Given the description of an element on the screen output the (x, y) to click on. 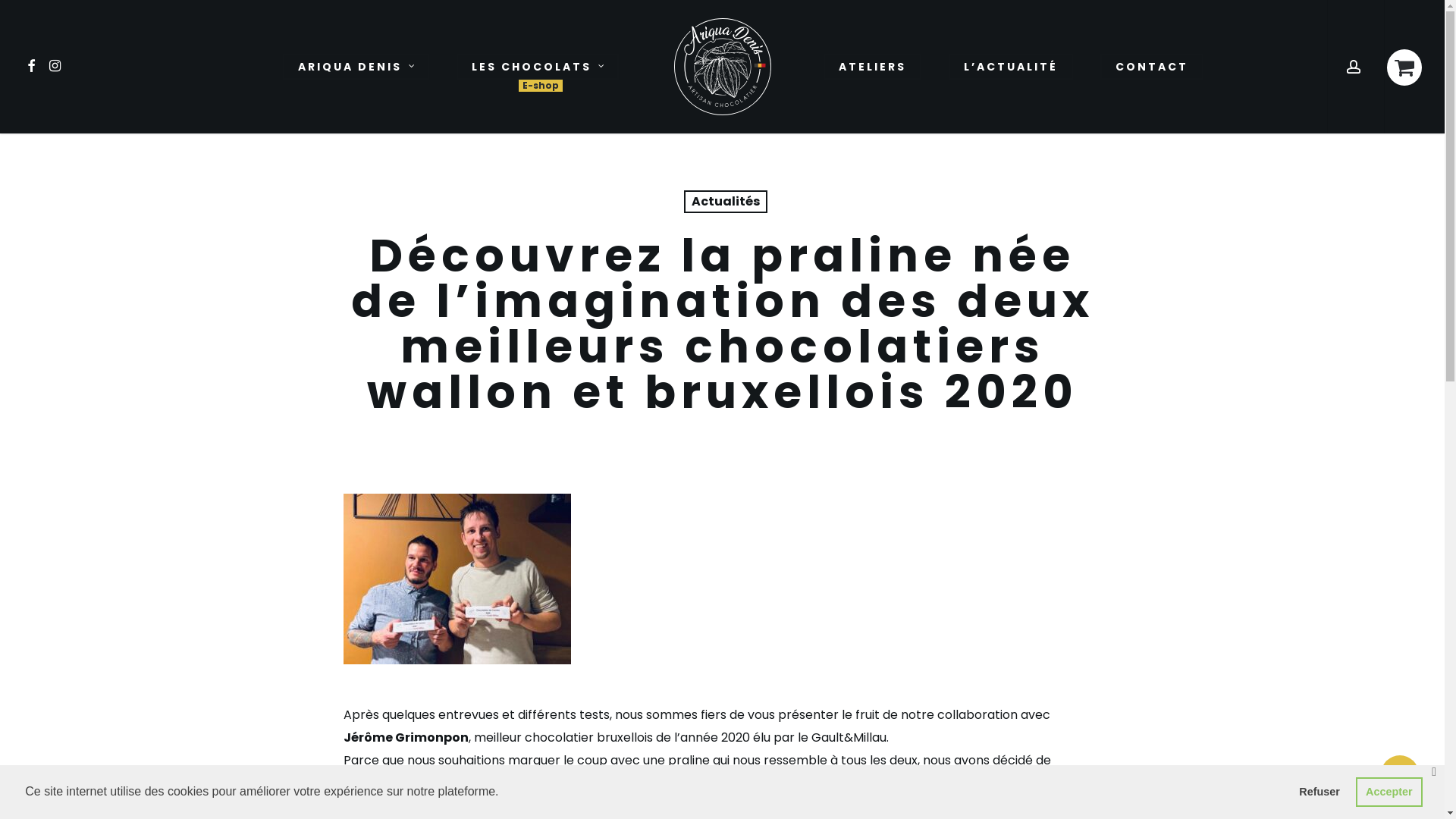
FACEBOOK Element type: text (31, 66)
INSTAGRAM Element type: text (55, 66)
ARIQUA DENIS Element type: text (355, 66)
Menu Element type: text (1415, 7)
account Element type: text (1355, 66)
LES CHOCOLATS Element type: text (537, 66)
ATELIERS Element type: text (872, 66)
CONTACT Element type: text (1151, 66)
Accepter Element type: text (1389, 791)
Refuser Element type: text (1319, 791)
